Given the description of an element on the screen output the (x, y) to click on. 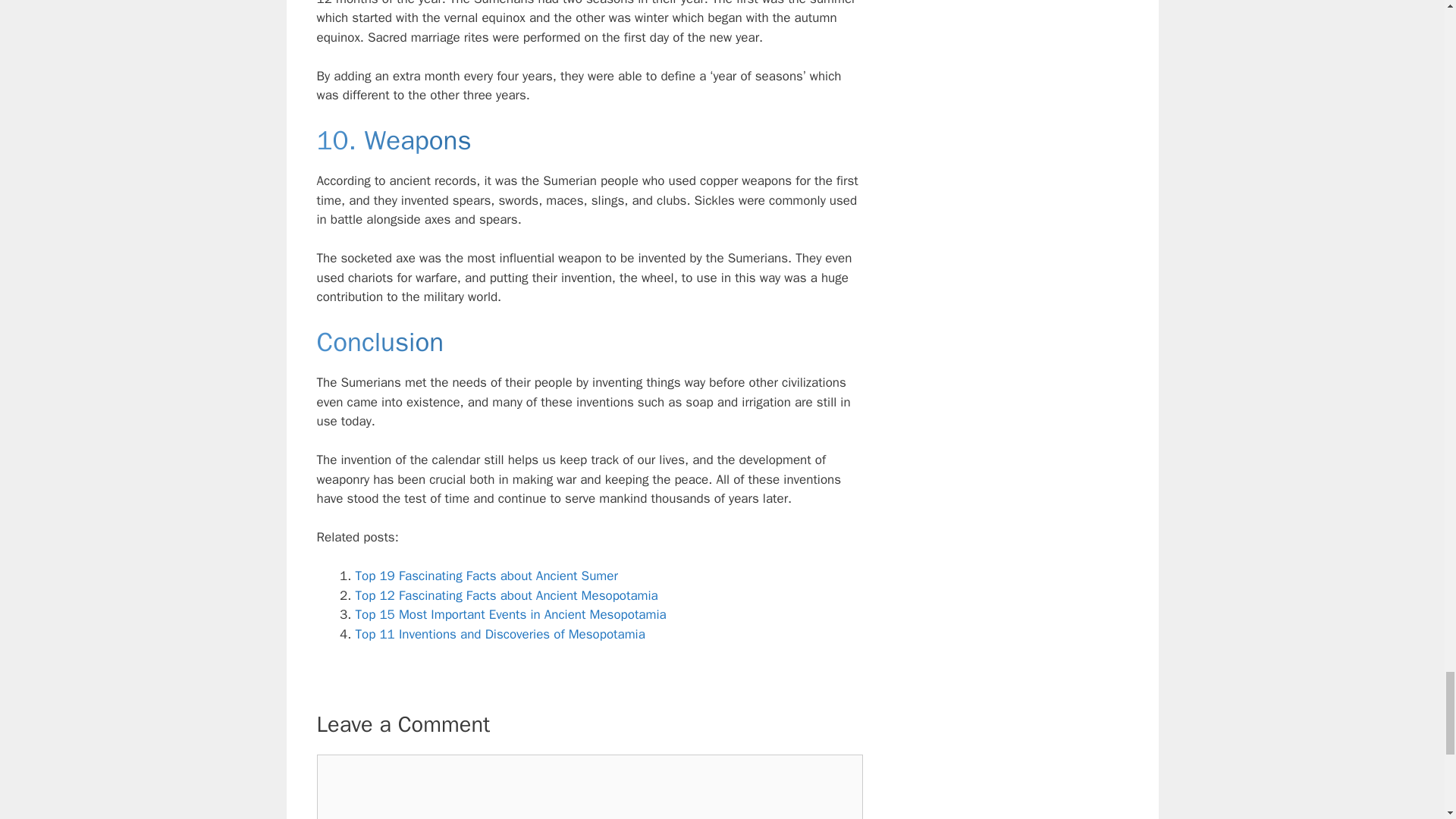
Top 12 Fascinating Facts about Ancient Mesopotamia (506, 595)
Top 15 Most Important Events in Ancient Mesopotamia (510, 614)
Top 12 Fascinating Facts about Ancient Mesopotamia (506, 595)
Top 15 Most Important Events in Ancient Mesopotamia (510, 614)
Top 19 Fascinating Facts about Ancient Sumer (486, 575)
Top 11 Inventions and Discoveries of Mesopotamia (500, 634)
Top 19 Fascinating Facts about Ancient Sumer (486, 575)
Top 11 Inventions and Discoveries of Mesopotamia (500, 634)
